Given the description of an element on the screen output the (x, y) to click on. 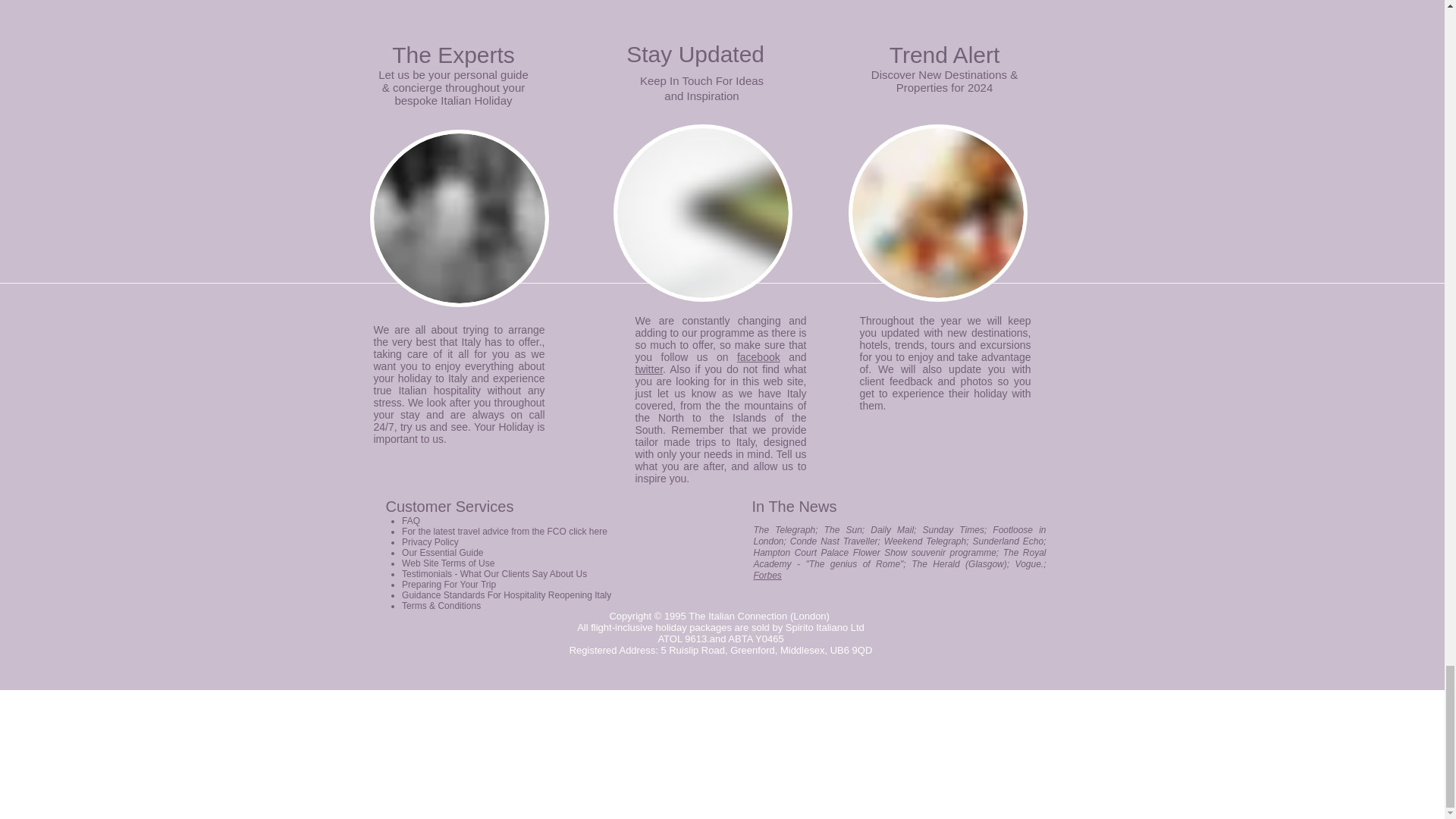
click here (588, 531)
facebook (758, 357)
Web Site Terms of Use (448, 562)
Privacy Policy (429, 542)
Preparing For Your Trip (448, 584)
Our Essential Guide (442, 552)
FAQ (410, 520)
Testimonials - What Our Clients Say About Us (493, 573)
twitter (648, 369)
